Given the description of an element on the screen output the (x, y) to click on. 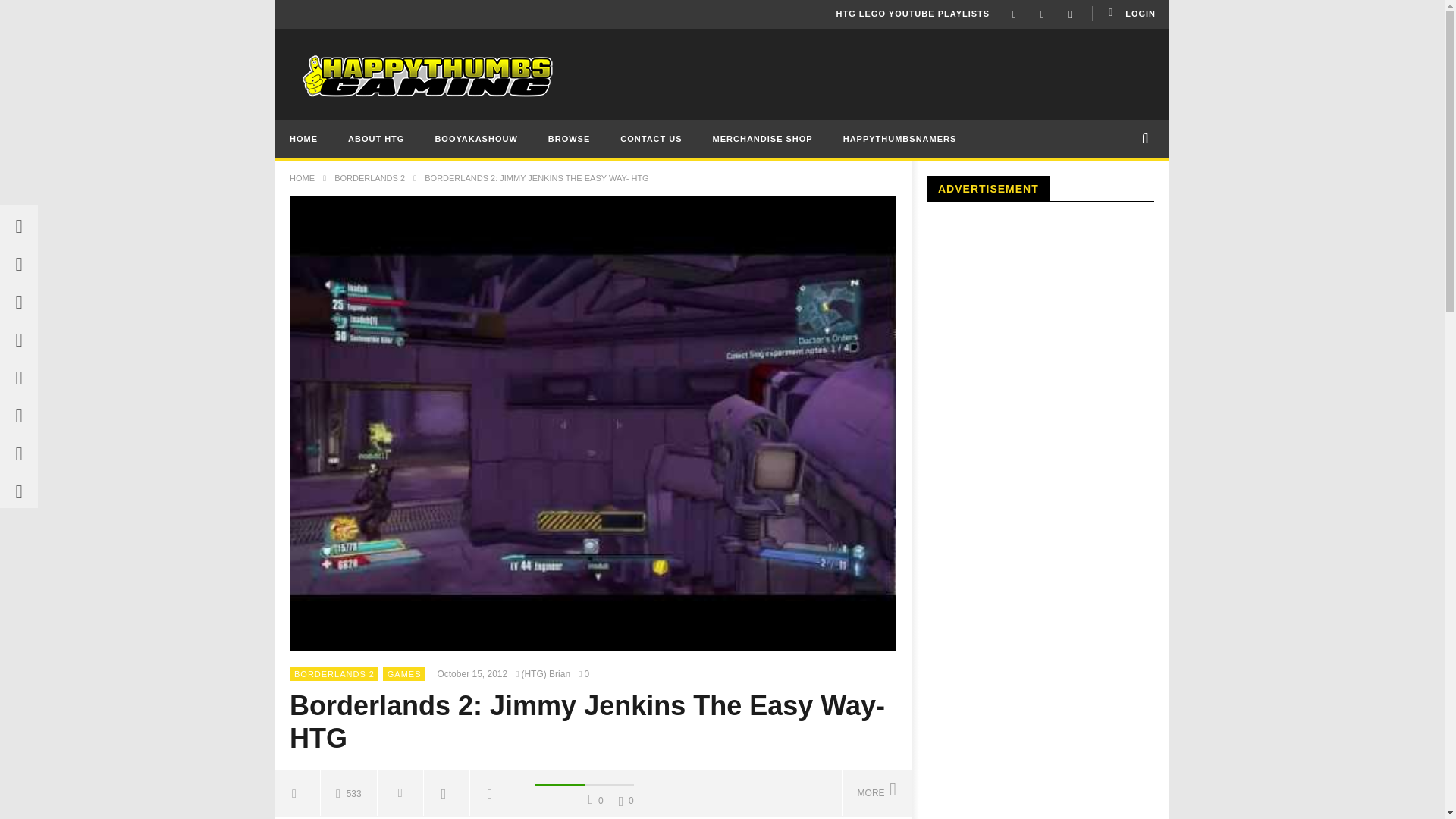
BooYaKaShouw meaning (475, 138)
BOOYAKASHOUW (475, 138)
HOME (301, 177)
BORDERLANDS 2 (369, 177)
ABOUT HTG (376, 138)
CONTACT US (651, 138)
Browse our recent videos (568, 138)
LOGIN (1130, 13)
Facebook (1013, 14)
YouTube (1042, 14)
Happy Thumbs Gaming (421, 76)
About HappyThumbsGaming (376, 138)
BORDERLANDS 2 (334, 673)
Got a question or suggestion? (651, 138)
October 15, 2012 (474, 673)
